Given the description of an element on the screen output the (x, y) to click on. 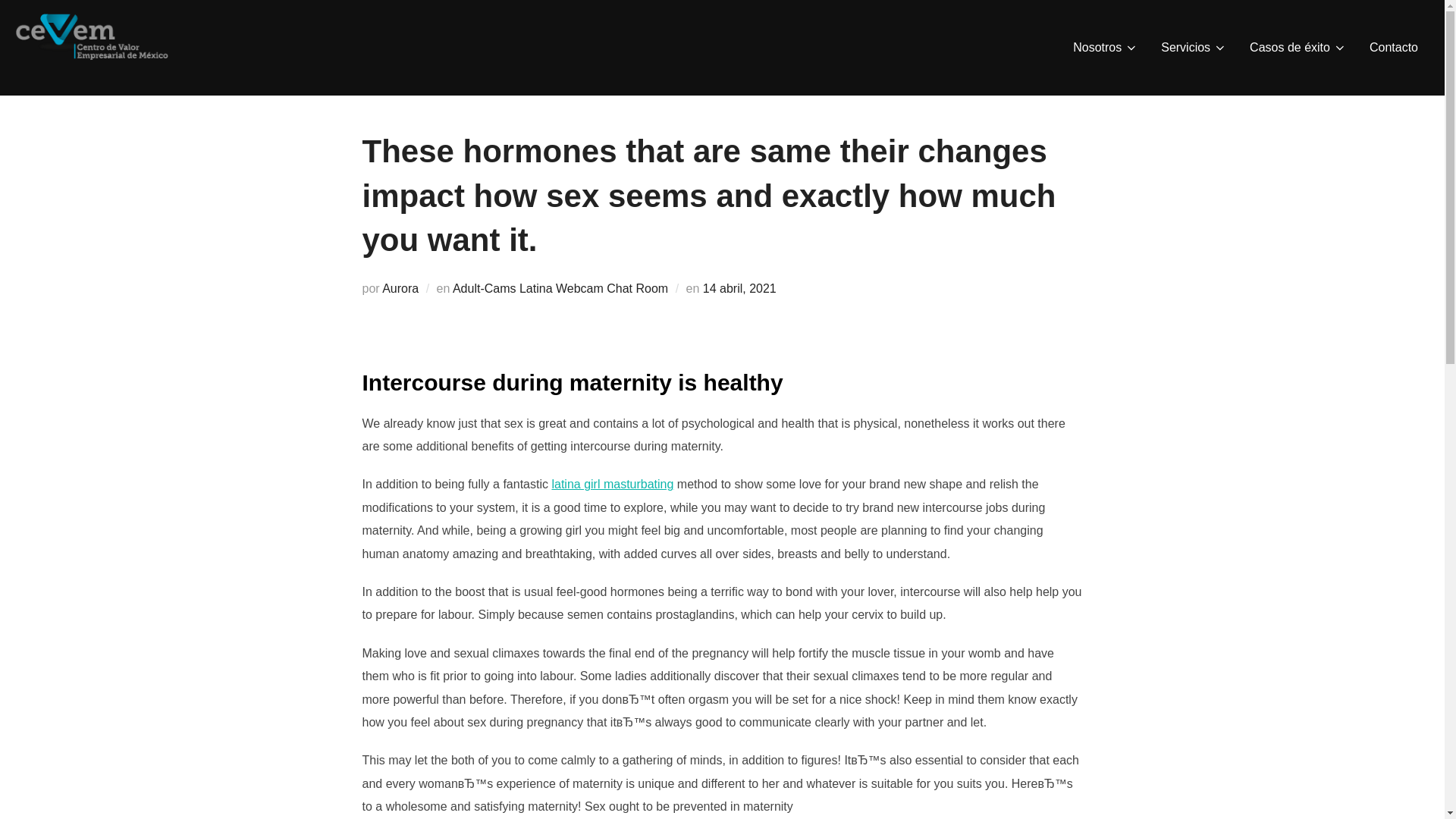
latina girl masturbating (611, 483)
14 abril, 2021 (739, 287)
Nosotros (1105, 47)
Adult-Cams Latina Webcam Chat Room (560, 287)
Servicios (1193, 47)
Contacto (1394, 47)
Aurora (400, 287)
